Given the description of an element on the screen output the (x, y) to click on. 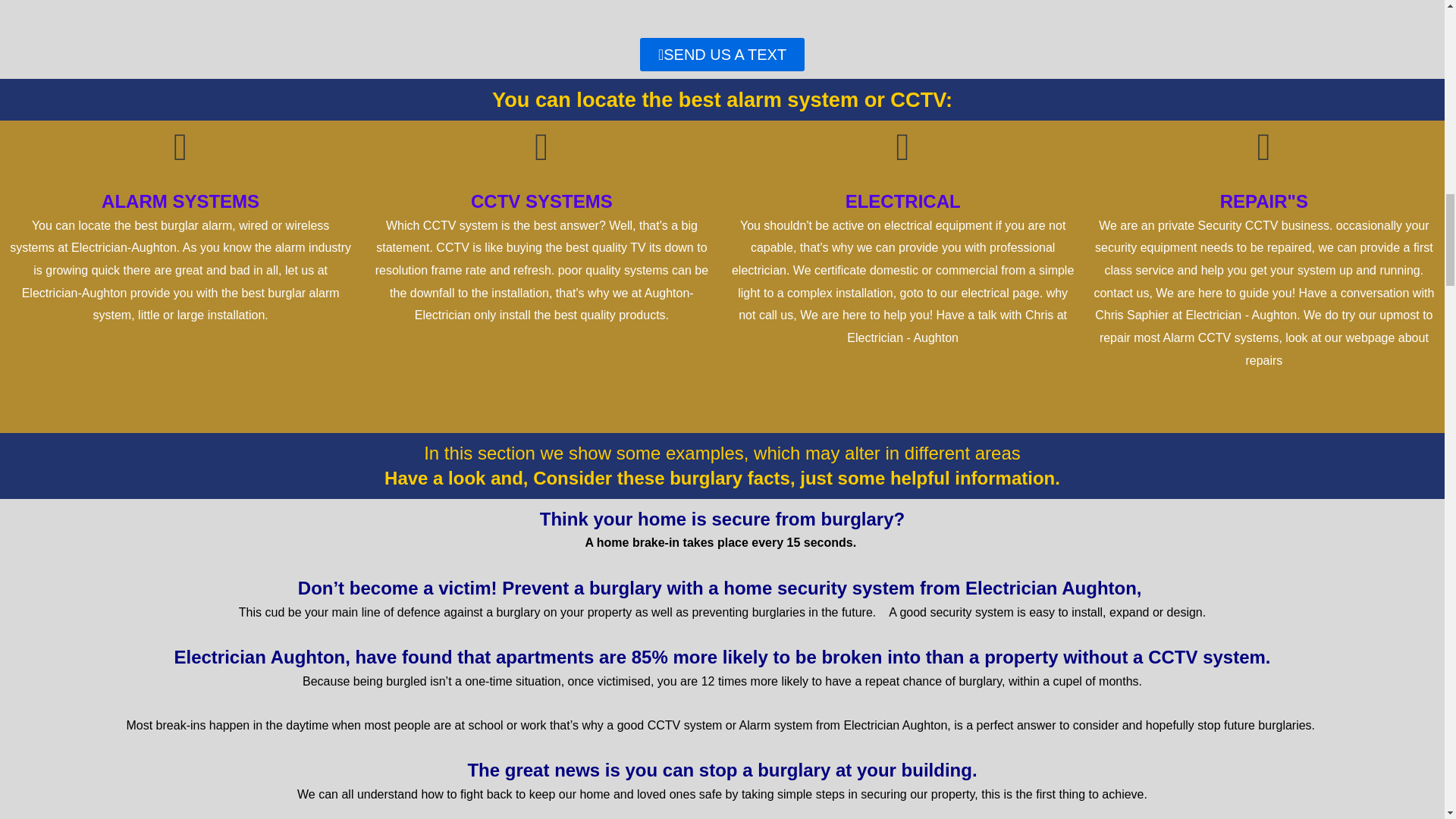
REPAIR"S (1263, 200)
ELECTRICAL (902, 200)
ALARM SYSTEMS (180, 200)
SEND US A TEXT (722, 54)
CCTV SYSTEMS (541, 200)
